Given the description of an element on the screen output the (x, y) to click on. 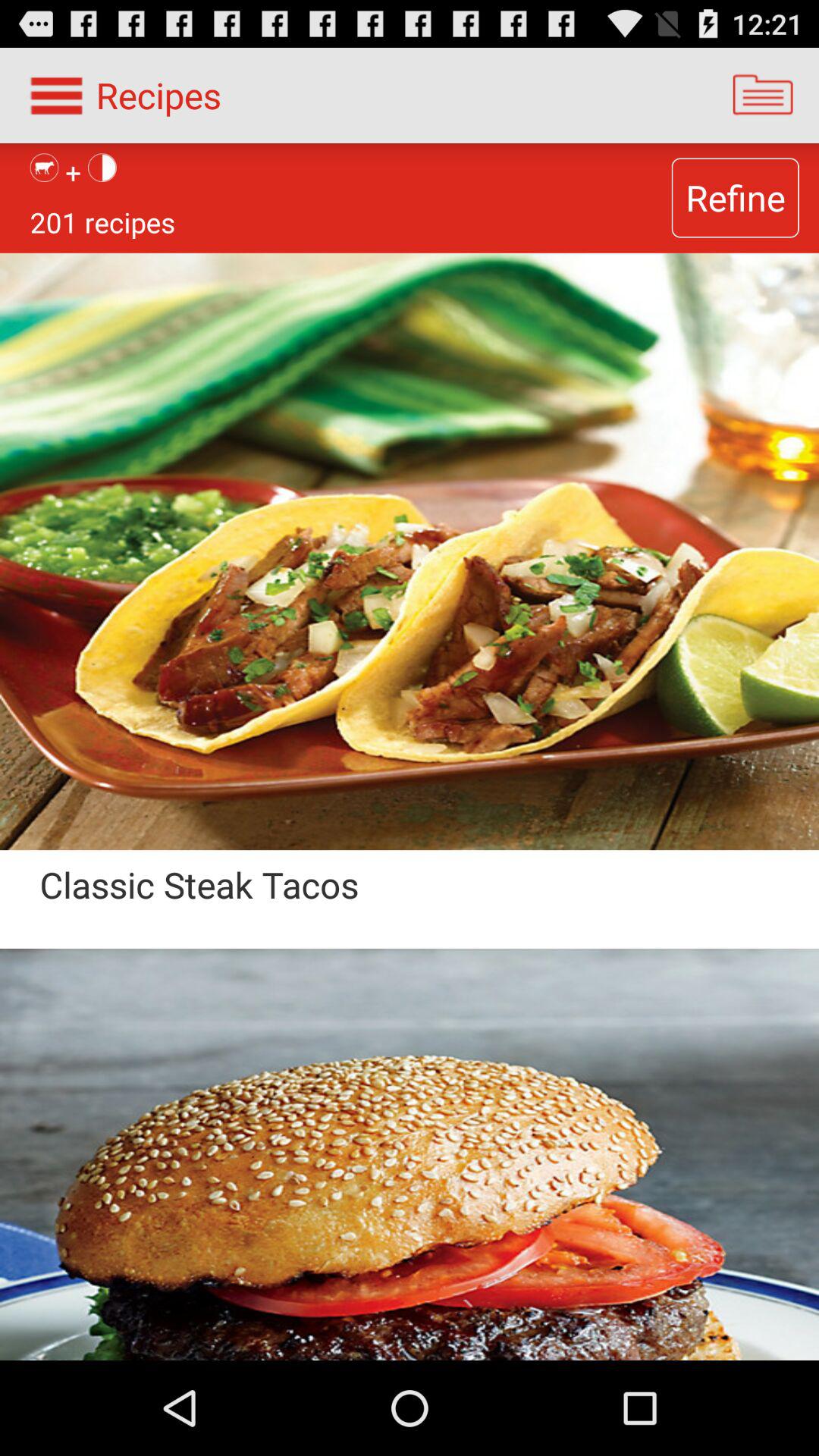
choose the app to the right of 201 recipes (735, 197)
